Given the description of an element on the screen output the (x, y) to click on. 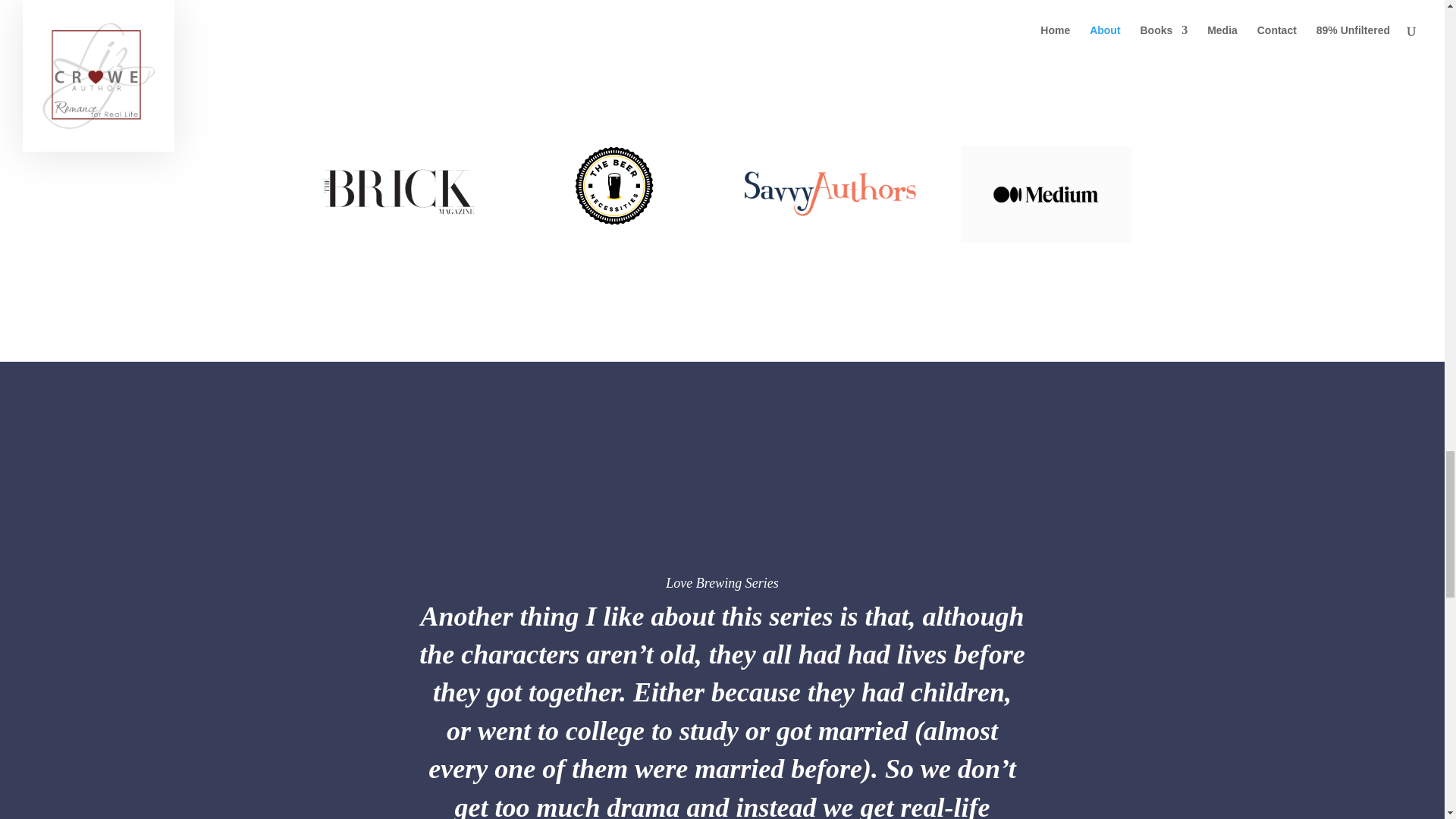
Savvy Authors logo (829, 194)
The Beer Necessities logo (613, 185)
medium gif logo (1045, 194)
Brick Magazine Logo (398, 188)
